Given the description of an element on the screen output the (x, y) to click on. 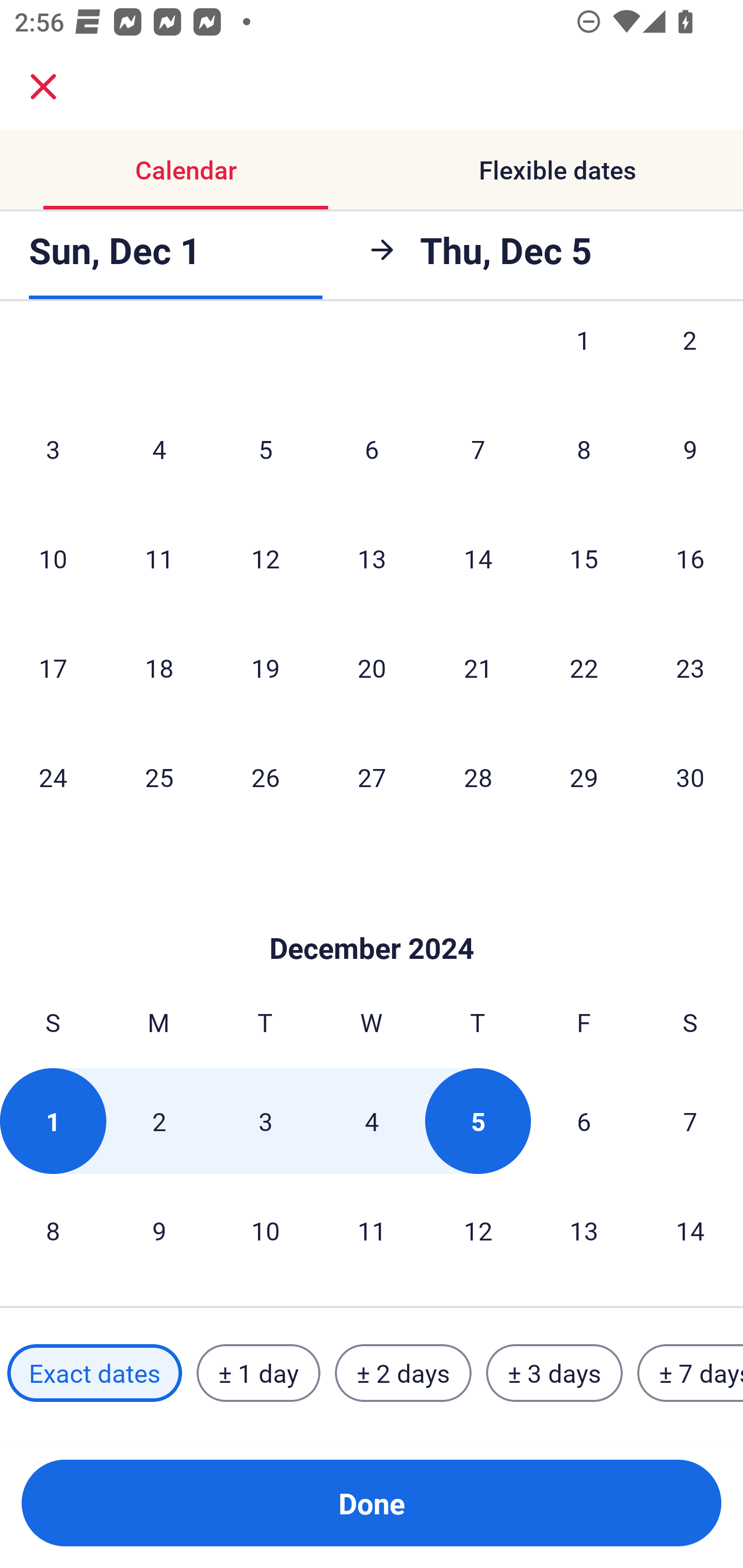
close. (43, 86)
Flexible dates (557, 170)
1 Friday, November 1, 2024 (583, 361)
2 Saturday, November 2, 2024 (689, 361)
3 Sunday, November 3, 2024 (53, 448)
4 Monday, November 4, 2024 (159, 448)
5 Tuesday, November 5, 2024 (265, 448)
6 Wednesday, November 6, 2024 (371, 448)
7 Thursday, November 7, 2024 (477, 448)
8 Friday, November 8, 2024 (584, 448)
9 Saturday, November 9, 2024 (690, 448)
10 Sunday, November 10, 2024 (53, 557)
11 Monday, November 11, 2024 (159, 557)
12 Tuesday, November 12, 2024 (265, 557)
13 Wednesday, November 13, 2024 (371, 557)
14 Thursday, November 14, 2024 (477, 557)
15 Friday, November 15, 2024 (584, 557)
16 Saturday, November 16, 2024 (690, 557)
17 Sunday, November 17, 2024 (53, 667)
18 Monday, November 18, 2024 (159, 667)
19 Tuesday, November 19, 2024 (265, 667)
20 Wednesday, November 20, 2024 (371, 667)
21 Thursday, November 21, 2024 (477, 667)
22 Friday, November 22, 2024 (584, 667)
23 Saturday, November 23, 2024 (690, 667)
24 Sunday, November 24, 2024 (53, 776)
25 Monday, November 25, 2024 (159, 776)
26 Tuesday, November 26, 2024 (265, 776)
27 Wednesday, November 27, 2024 (371, 776)
28 Thursday, November 28, 2024 (477, 776)
29 Friday, November 29, 2024 (584, 776)
30 Saturday, November 30, 2024 (690, 776)
Skip to Done (371, 917)
6 Friday, December 6, 2024 (584, 1120)
7 Saturday, December 7, 2024 (690, 1120)
8 Sunday, December 8, 2024 (53, 1229)
9 Monday, December 9, 2024 (159, 1229)
10 Tuesday, December 10, 2024 (265, 1229)
11 Wednesday, December 11, 2024 (371, 1229)
12 Thursday, December 12, 2024 (477, 1229)
13 Friday, December 13, 2024 (584, 1229)
14 Saturday, December 14, 2024 (690, 1229)
Exact dates (94, 1372)
± 1 day (258, 1372)
± 2 days (403, 1372)
± 3 days (553, 1372)
± 7 days (690, 1372)
Done (371, 1502)
